Given the description of an element on the screen output the (x, y) to click on. 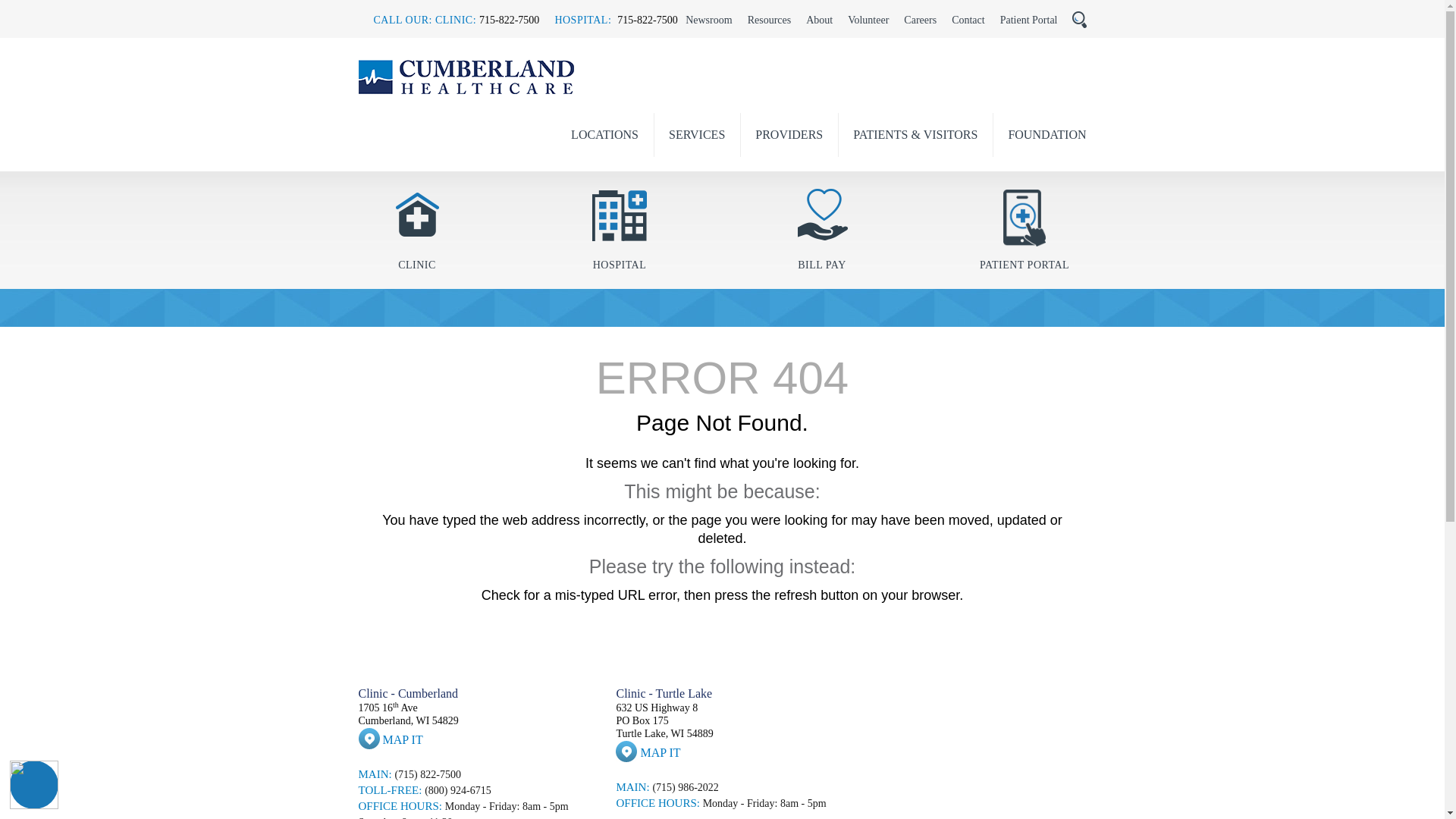
SERVICES (696, 142)
About (819, 19)
Volunteer (867, 19)
Resources (770, 19)
Contact (968, 19)
Cumberland Healthcare (465, 76)
LOCATIONS (604, 142)
715-822-7500 (508, 19)
Accessibility Menu (34, 784)
715-822-7500 (647, 19)
